Given the description of an element on the screen output the (x, y) to click on. 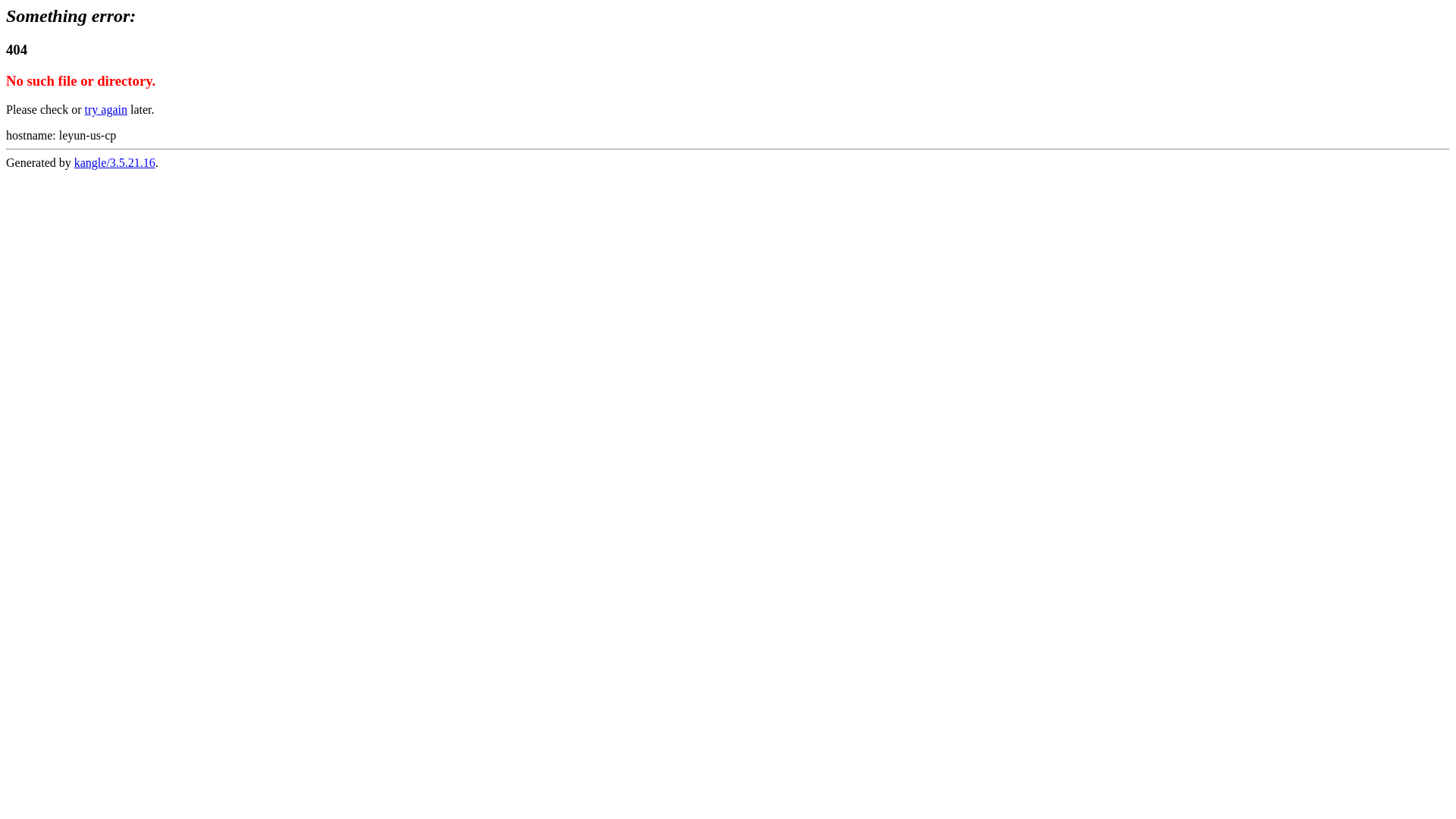
kangle/3.5.21.16 Element type: text (114, 162)
try again Element type: text (105, 109)
